Given the description of an element on the screen output the (x, y) to click on. 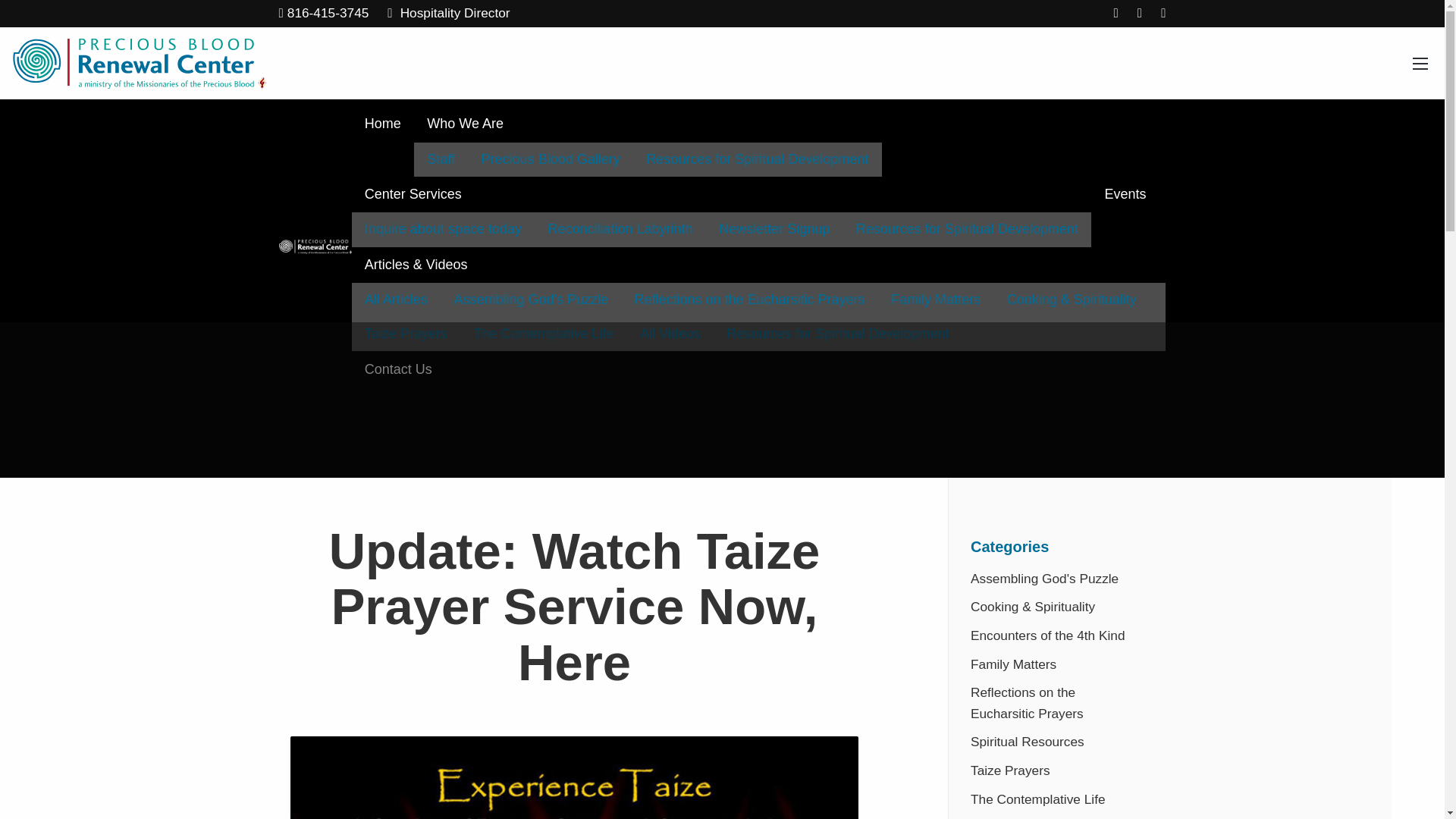
Home (383, 124)
Reconciliation Labyrinth (620, 229)
Inquire about space today (443, 229)
Resources for Spiritual Development (966, 229)
Staff (440, 159)
Newsletter Signup (774, 229)
816-415-3745 (324, 13)
Precious Blood Gallery (550, 159)
Who We Are (647, 124)
Resources for Spiritual Development (757, 159)
